Given the description of an element on the screen output the (x, y) to click on. 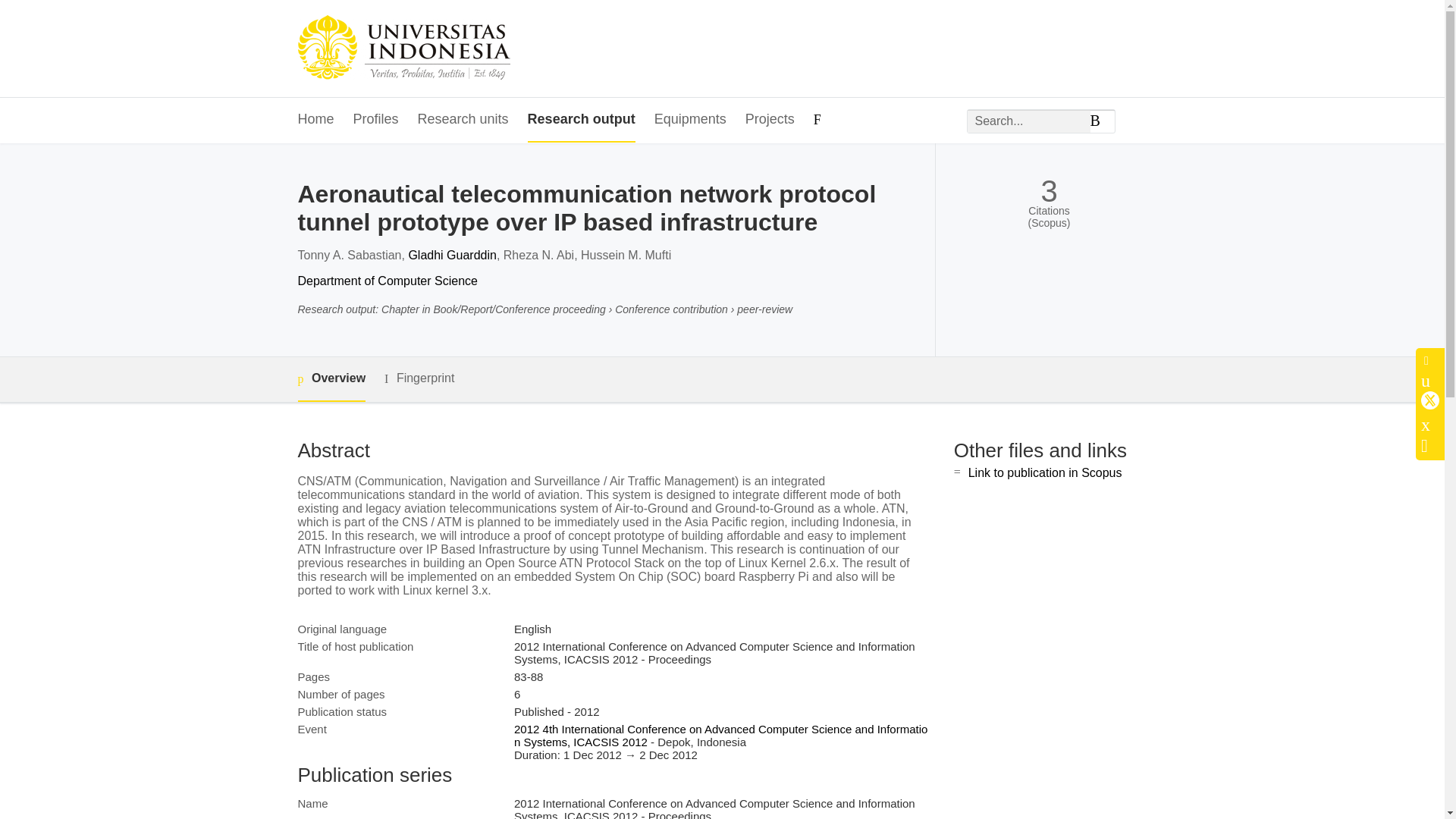
Department of Computer Science (387, 280)
Fingerprint (419, 378)
Link to publication in Scopus (1045, 472)
Universitas Indonesia Home (403, 48)
Research units (462, 119)
Profiles (375, 119)
Research output (580, 119)
Equipments (689, 119)
Projects (769, 119)
